Given the description of an element on the screen output the (x, y) to click on. 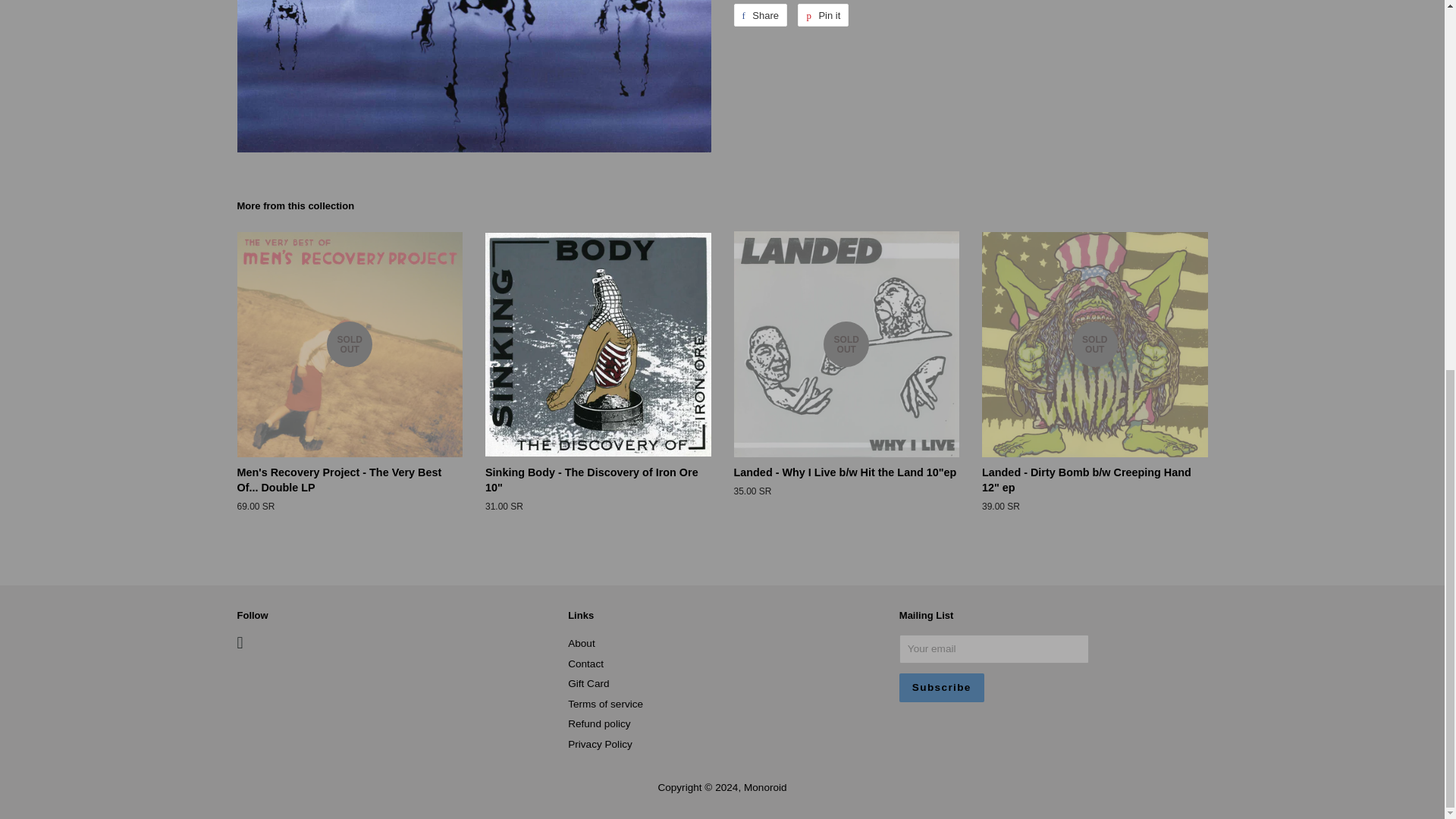
Share on Facebook (760, 15)
Subscribe (941, 687)
Pin on Pinterest (822, 15)
